Given the description of an element on the screen output the (x, y) to click on. 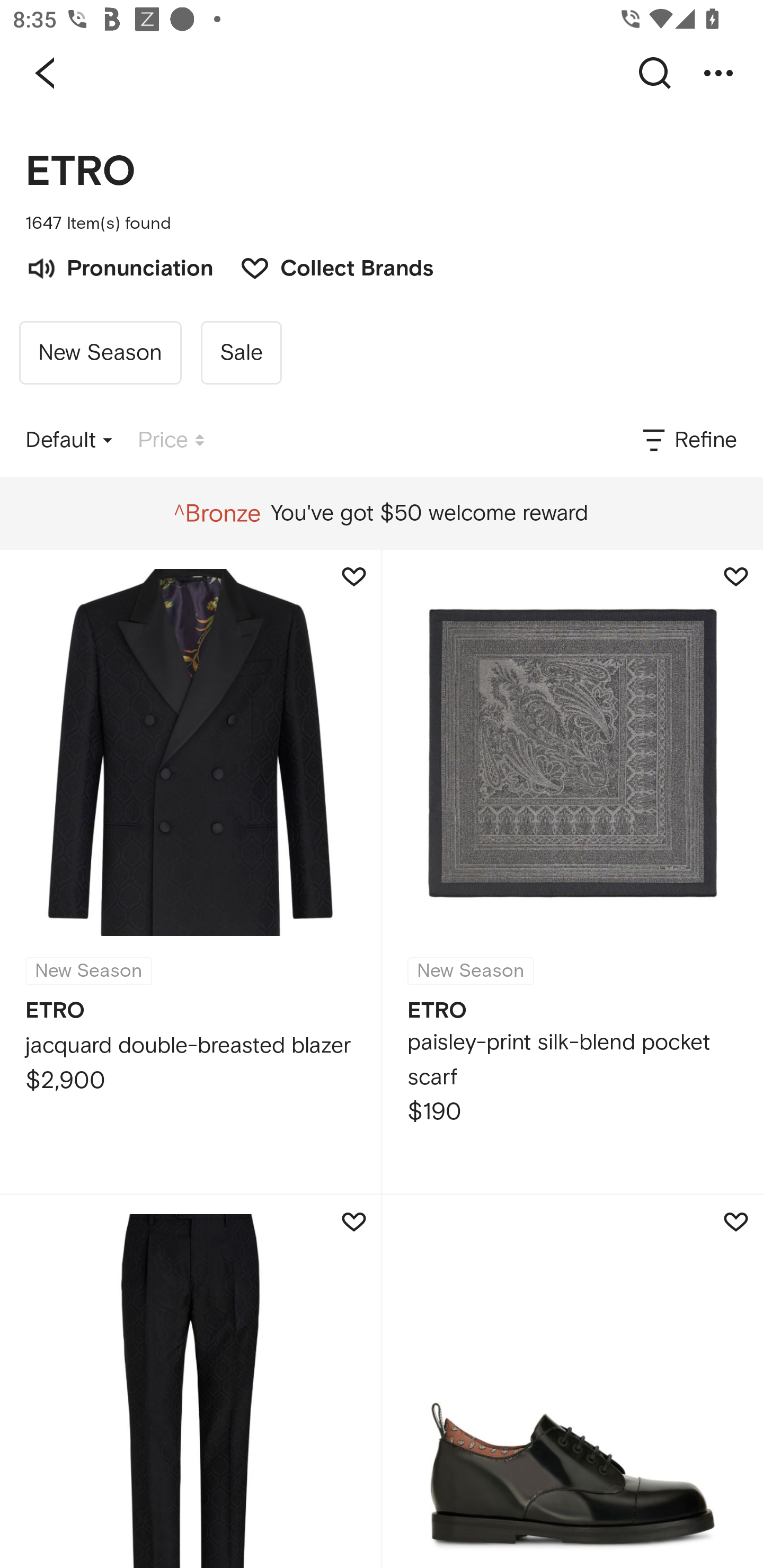
Pronunciation (119, 266)
Collect Brands (327, 266)
New Season (100, 352)
Sale (240, 352)
Default (68, 440)
Price (171, 440)
Refine (688, 440)
You've got $50 welcome reward (381, 513)
